Given the description of an element on the screen output the (x, y) to click on. 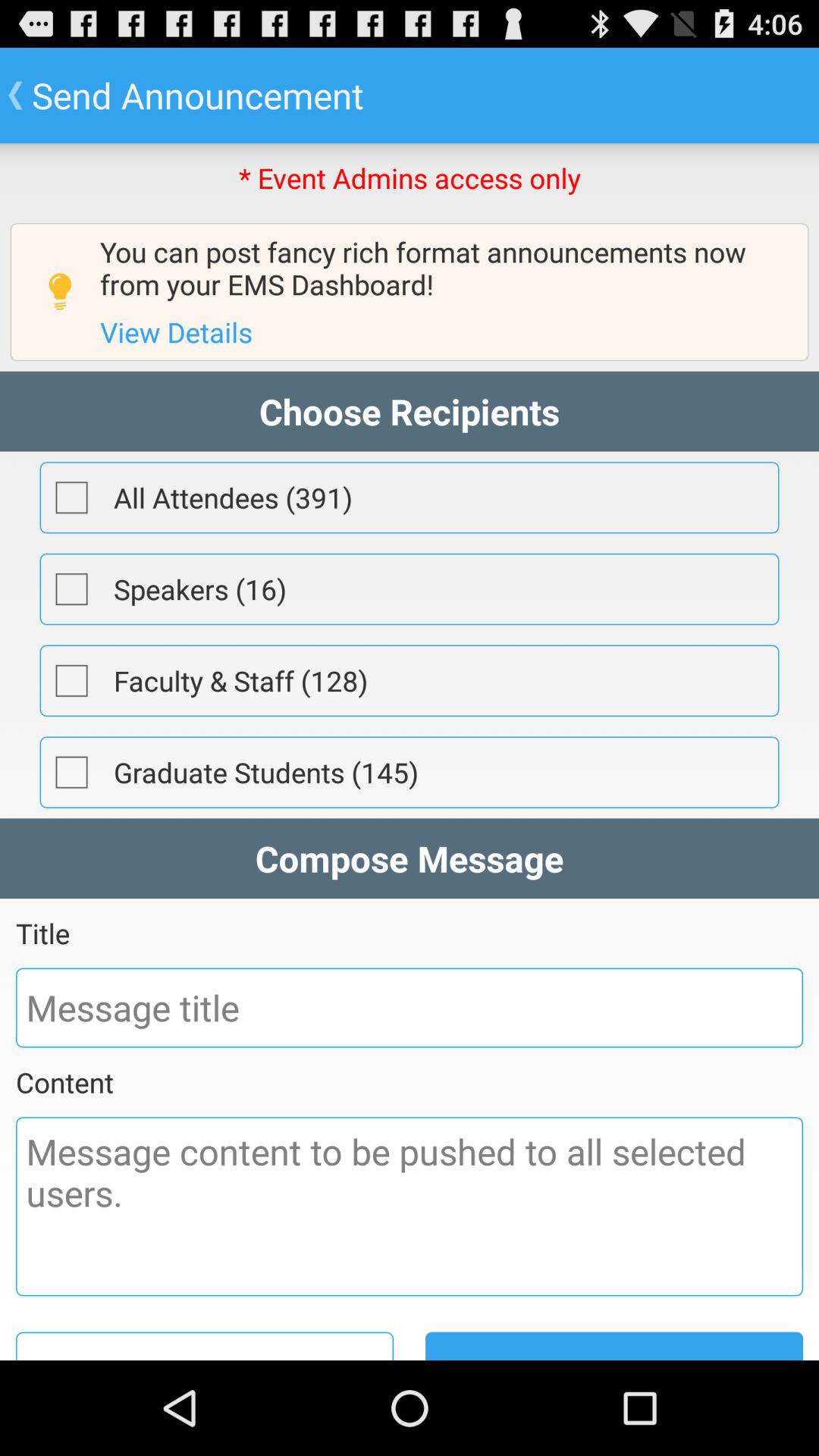
choose faculty and staff for email (71, 680)
